Given the description of an element on the screen output the (x, y) to click on. 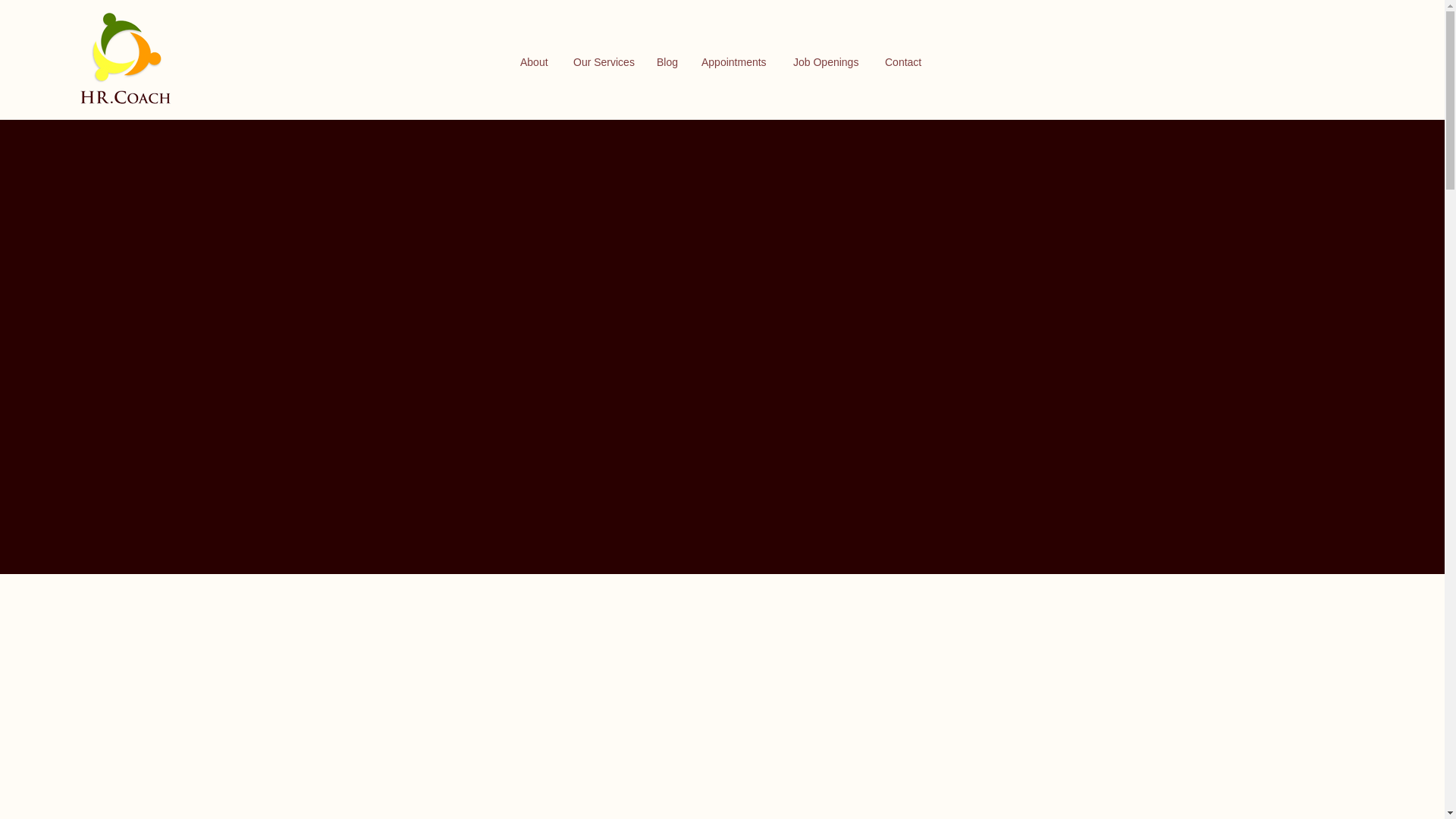
Our Services (603, 62)
Appointments (735, 62)
About (535, 62)
Job Openings (827, 62)
Contact (903, 62)
Blog (667, 62)
